Given the description of an element on the screen output the (x, y) to click on. 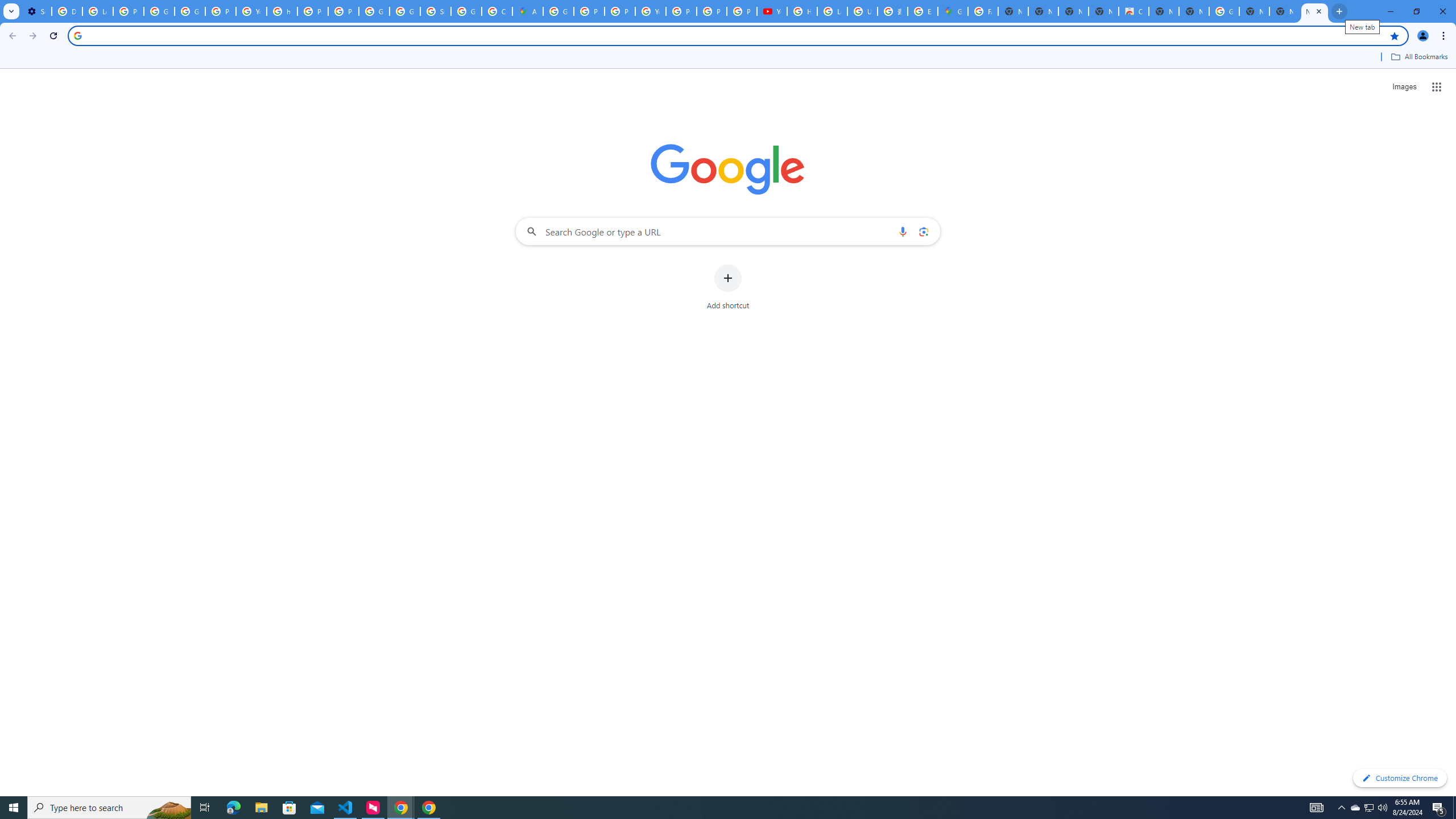
Google Images (1224, 11)
Delete photos & videos - Computer - Google Photos Help (66, 11)
Google Account Help (189, 11)
Bookmarks (728, 58)
https://scholar.google.com/ (282, 11)
New Tab (1338, 11)
Explore new street-level details - Google Maps Help (922, 11)
Google Account Help (158, 11)
Search icon (77, 35)
Back (10, 35)
